Given the description of an element on the screen output the (x, y) to click on. 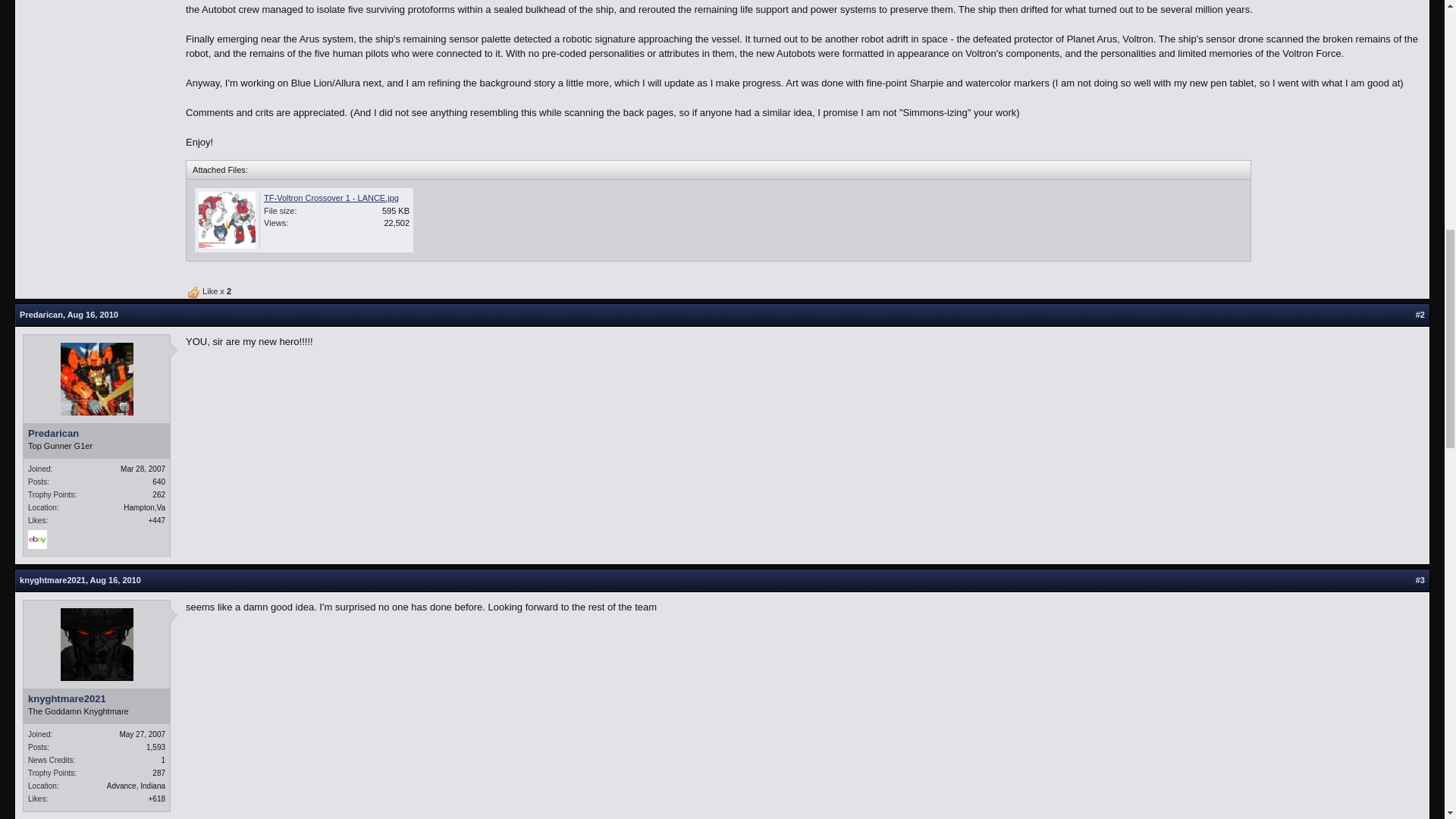
knyghtmare2021 (52, 579)
Permalink (91, 314)
Permalink (1420, 580)
Hampton,Va (144, 507)
262 (158, 494)
TF-Voltron Crossover 1 - LANCE.jpg (330, 197)
Permalink (1420, 314)
Predarican (41, 314)
TF-Voltron Crossover 1 - LANCE.jpg (307, 224)
Predarican (96, 433)
Permalink (115, 579)
640 (158, 481)
Aug 16, 2010 (91, 314)
Aug 16, 2010 (115, 579)
Like (193, 292)
